Given the description of an element on the screen output the (x, y) to click on. 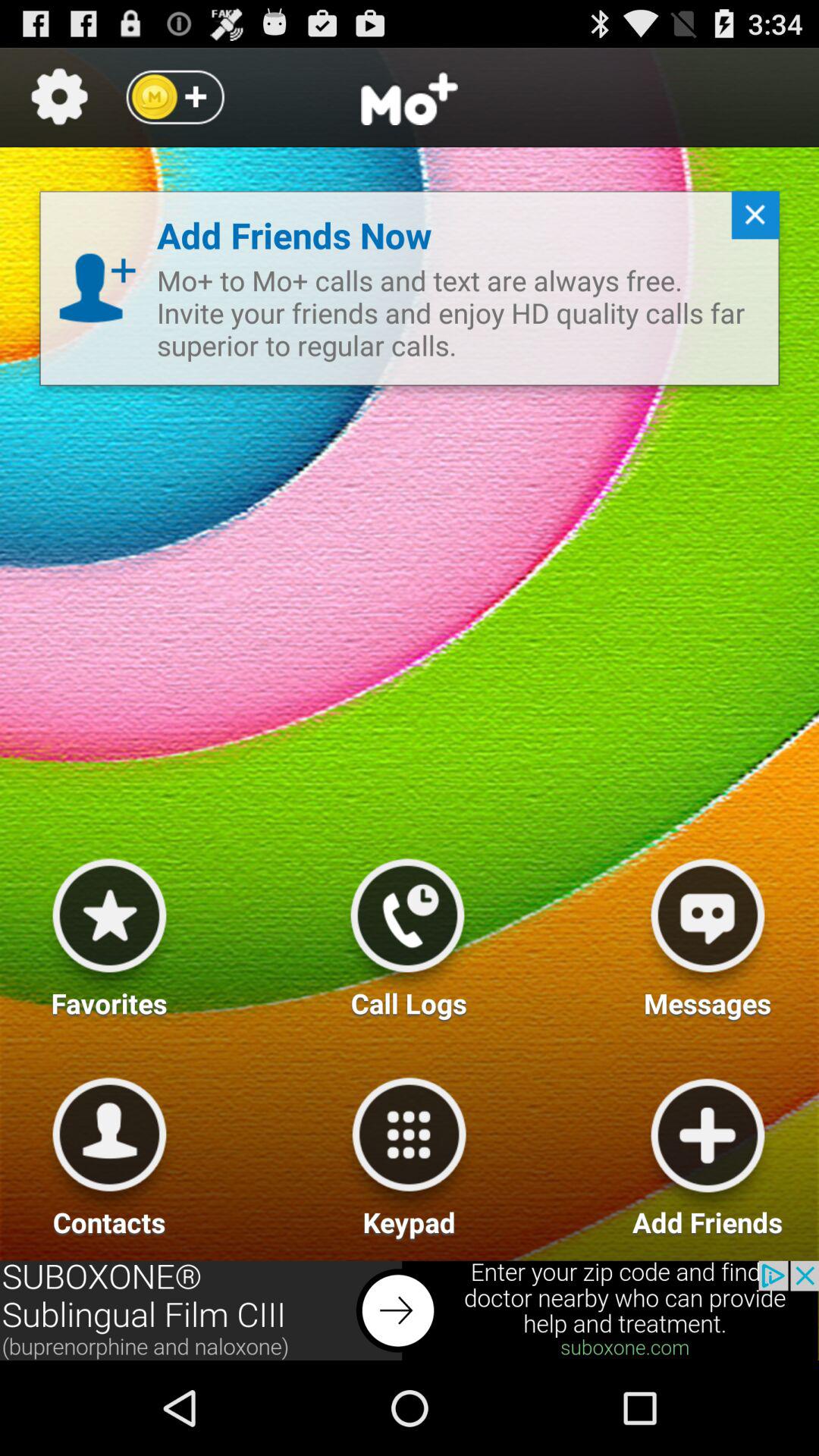
go to messege option (707, 932)
